Given the description of an element on the screen output the (x, y) to click on. 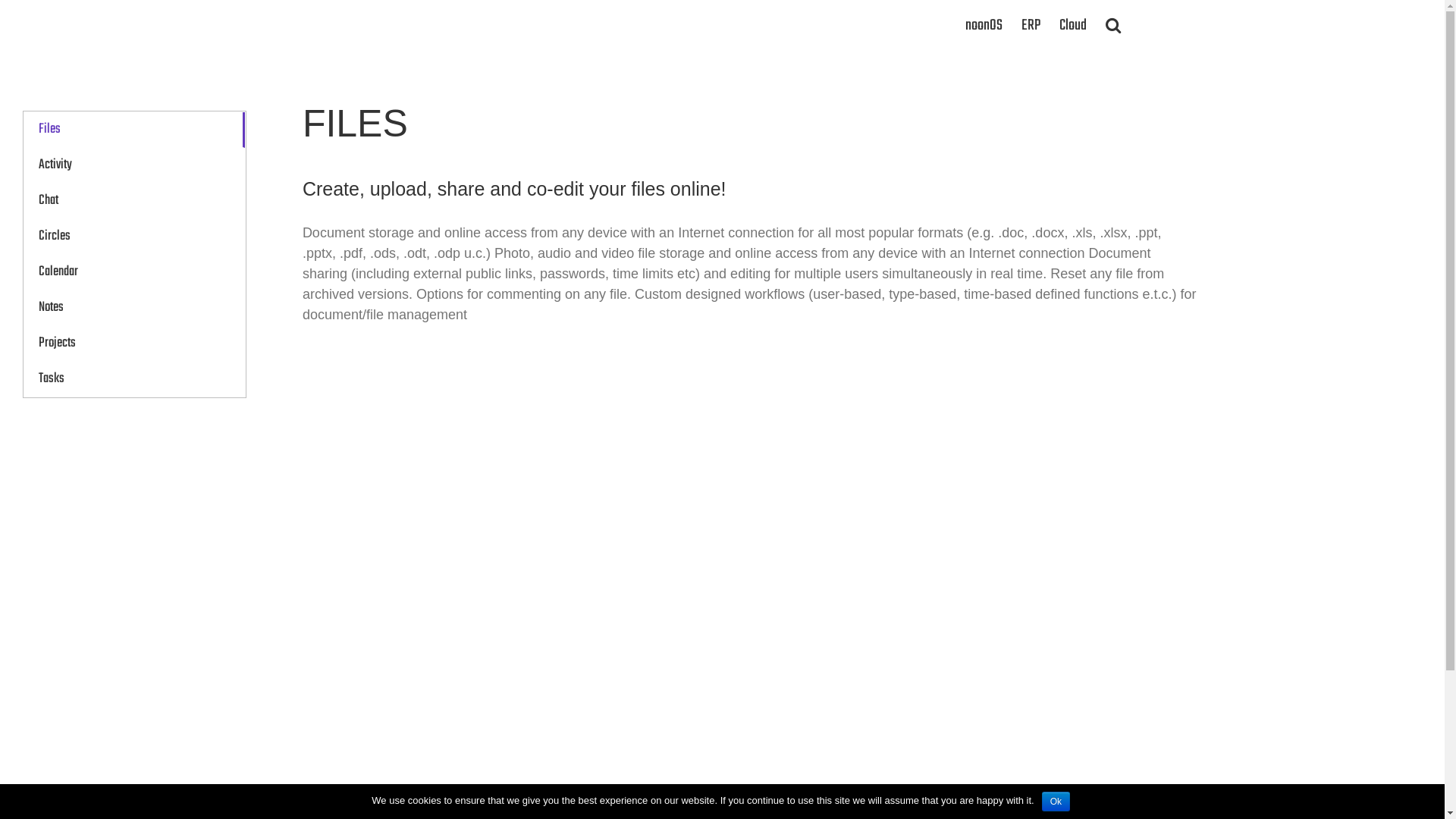
Chat Element type: text (133, 201)
Projects Element type: text (133, 343)
Cloud Element type: text (1071, 24)
ERP Element type: text (1029, 24)
Circles Element type: text (133, 236)
noonOS Element type: text (982, 24)
Activity Element type: text (133, 165)
Notes Element type: text (133, 308)
Search Element type: hover (1112, 24)
Calendar Element type: text (133, 272)
Files Element type: text (133, 129)
Tasks Element type: text (133, 379)
Ok Element type: text (1055, 801)
